Given the description of an element on the screen output the (x, y) to click on. 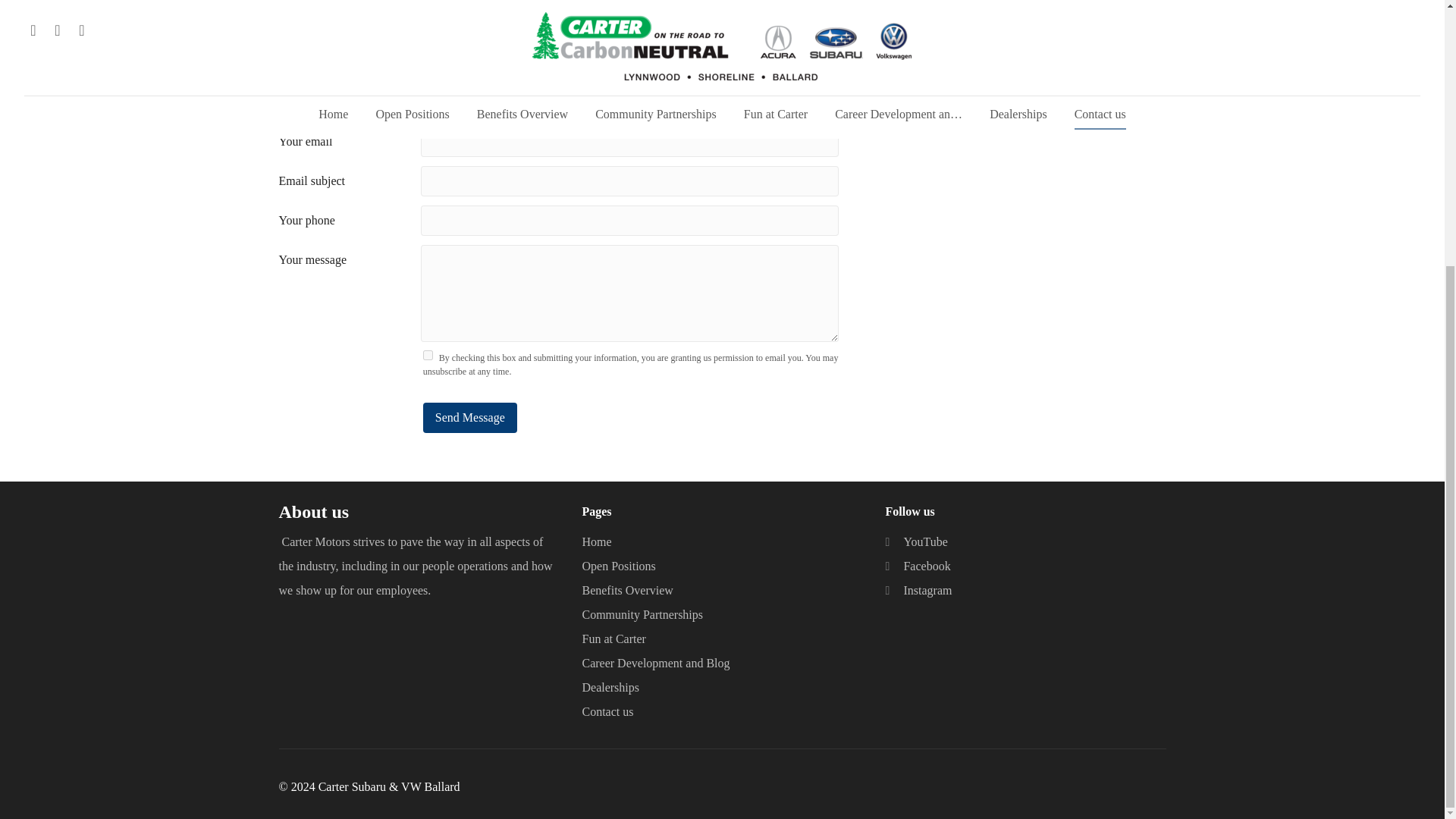
Benefits Overview (626, 590)
Contact us (606, 711)
Send Message (469, 417)
Open Positions (617, 566)
Home (595, 541)
Facebook (917, 566)
Dealerships (609, 687)
Instagram (918, 590)
Career Development and Blog (654, 663)
false (427, 355)
Community Partnerships (641, 614)
YouTube (916, 541)
Fun at Carter (612, 639)
